Given the description of an element on the screen output the (x, y) to click on. 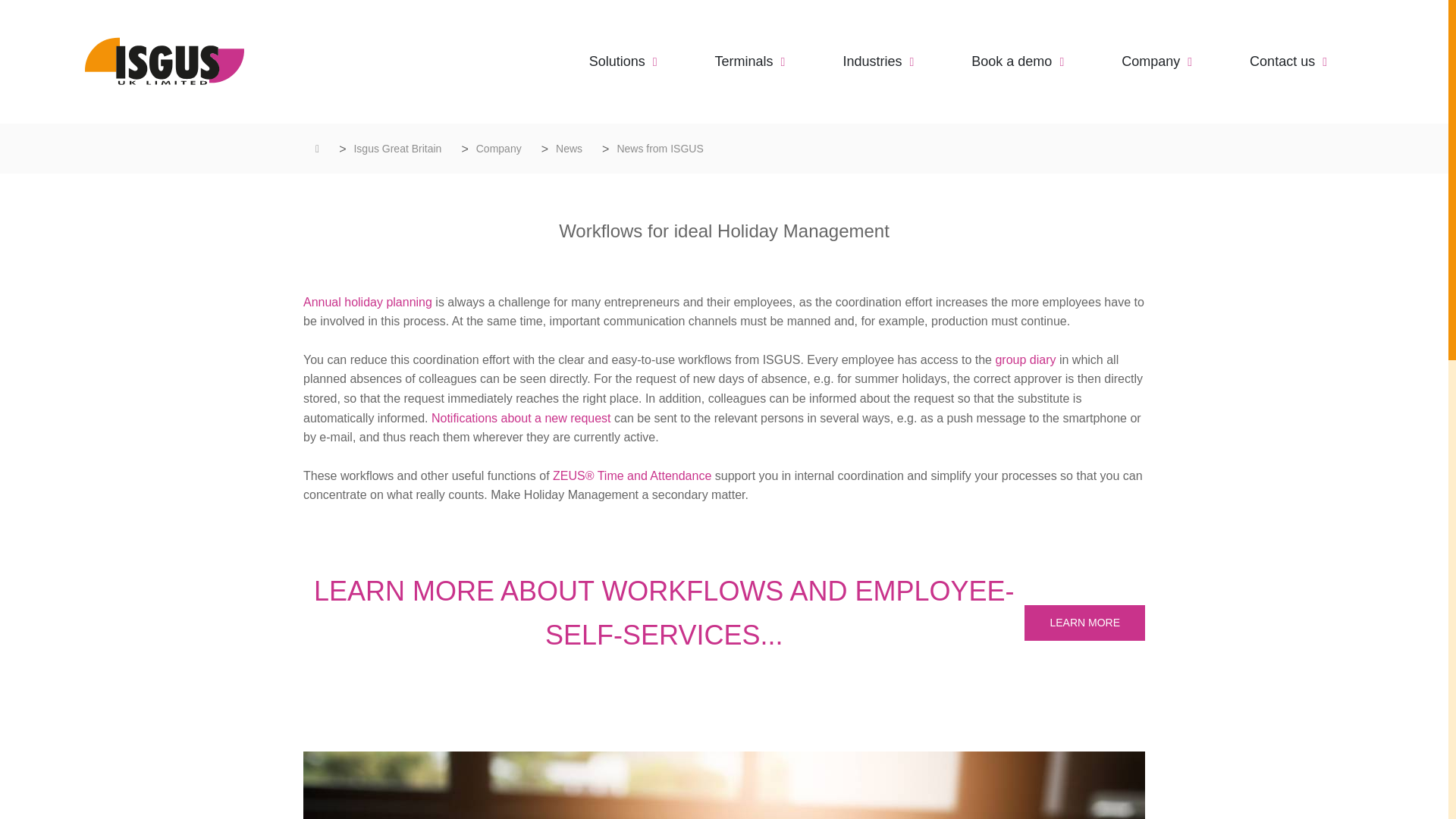
Company (1156, 60)
Contact us (1287, 60)
News (569, 148)
Book a demo (1017, 60)
News from ISGUS (659, 148)
Industries (878, 60)
Company (498, 148)
Solutions (623, 60)
Terminals (750, 60)
Workflow Holiday Management (1084, 622)
